Given the description of an element on the screen output the (x, y) to click on. 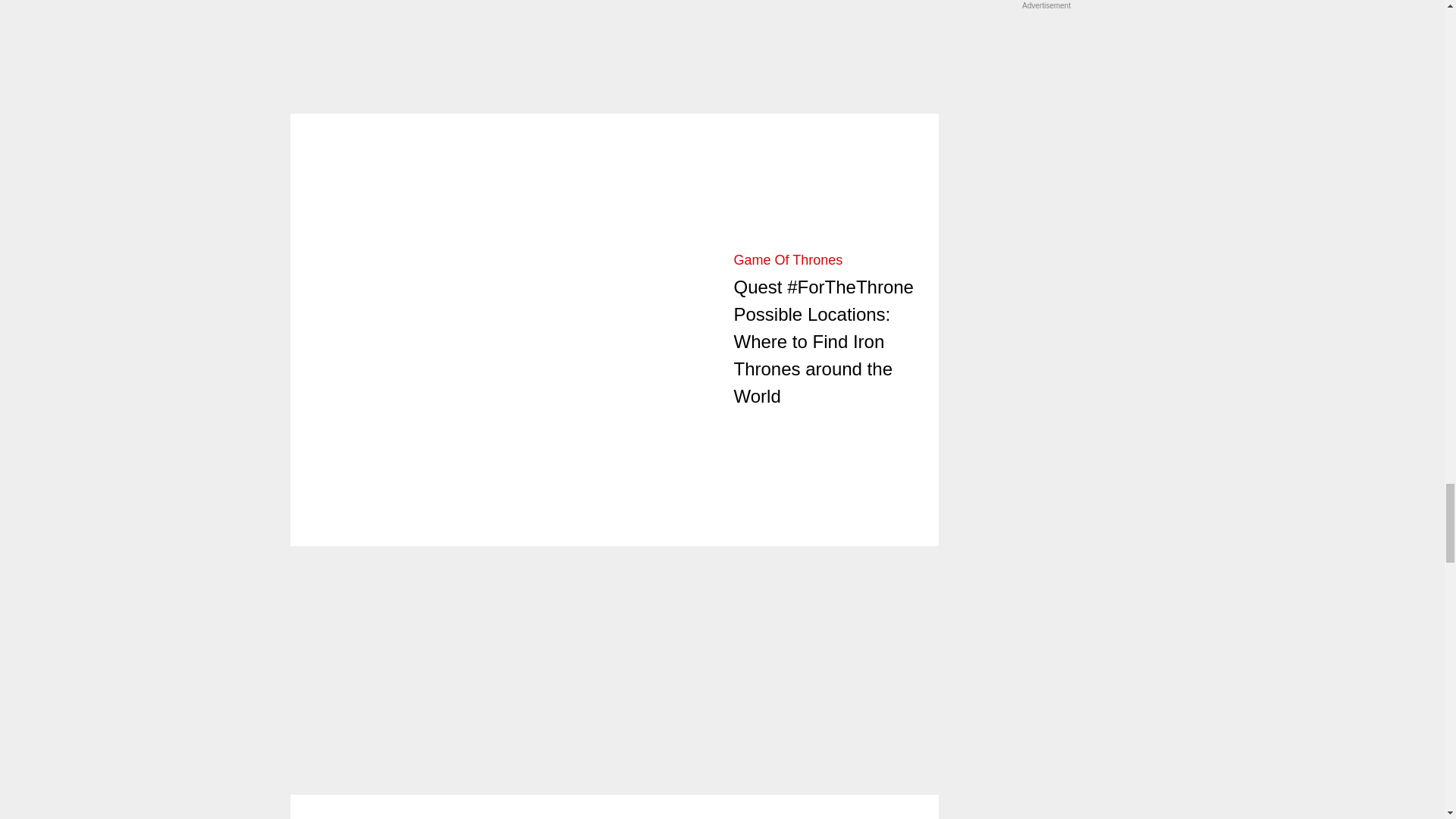
Category Name (788, 259)
